Given the description of an element on the screen output the (x, y) to click on. 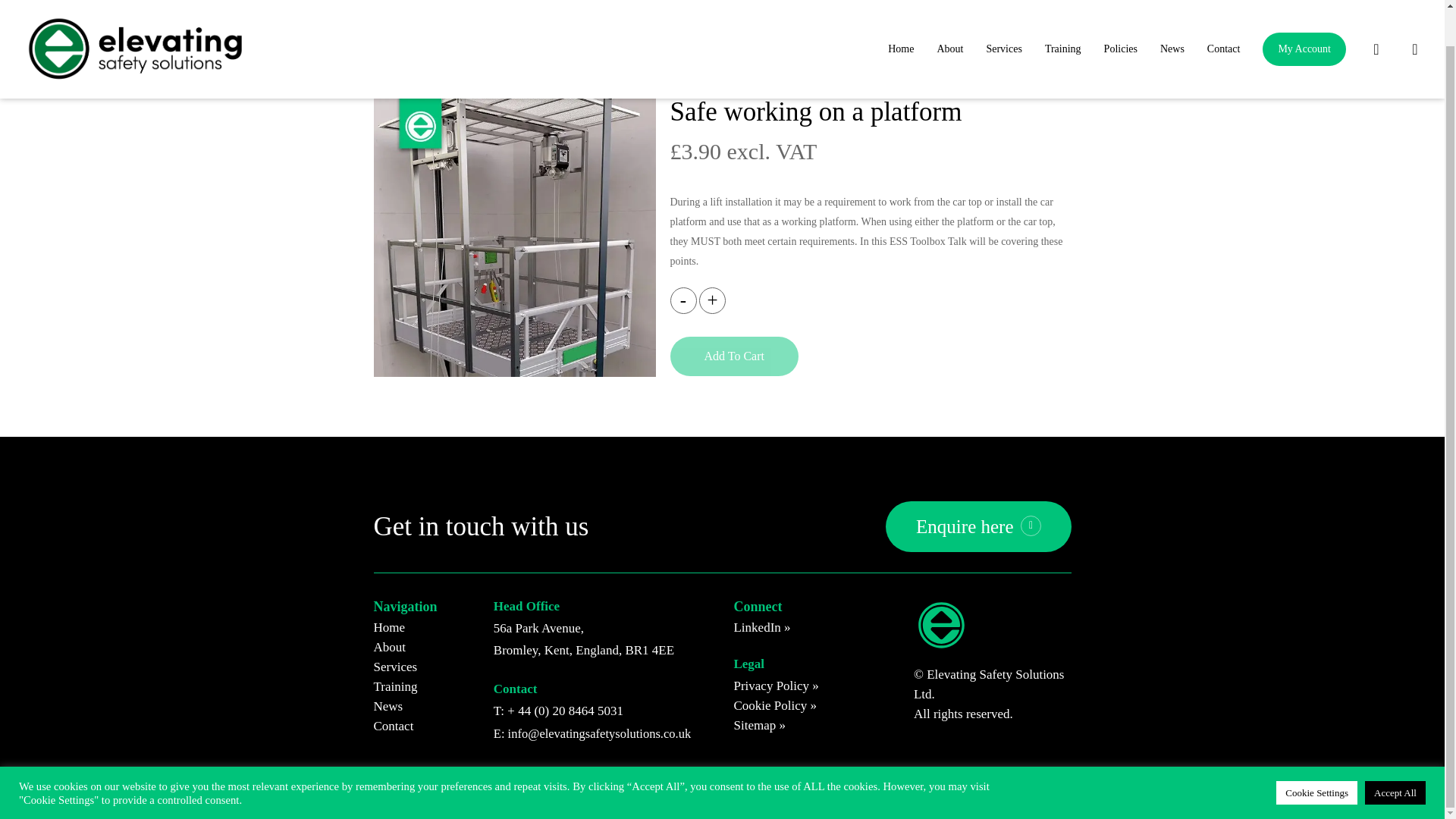
search (1376, 10)
- (683, 300)
Add To Cart (733, 355)
Home (900, 11)
Services (1003, 11)
About (949, 11)
Home (384, 71)
Training (1063, 11)
Contact (1223, 11)
Courses (432, 71)
ESS-PRODUCT-feature-temporary moving platform (514, 236)
News (1171, 11)
Policies (1120, 11)
My Account (1303, 13)
